Given the description of an element on the screen output the (x, y) to click on. 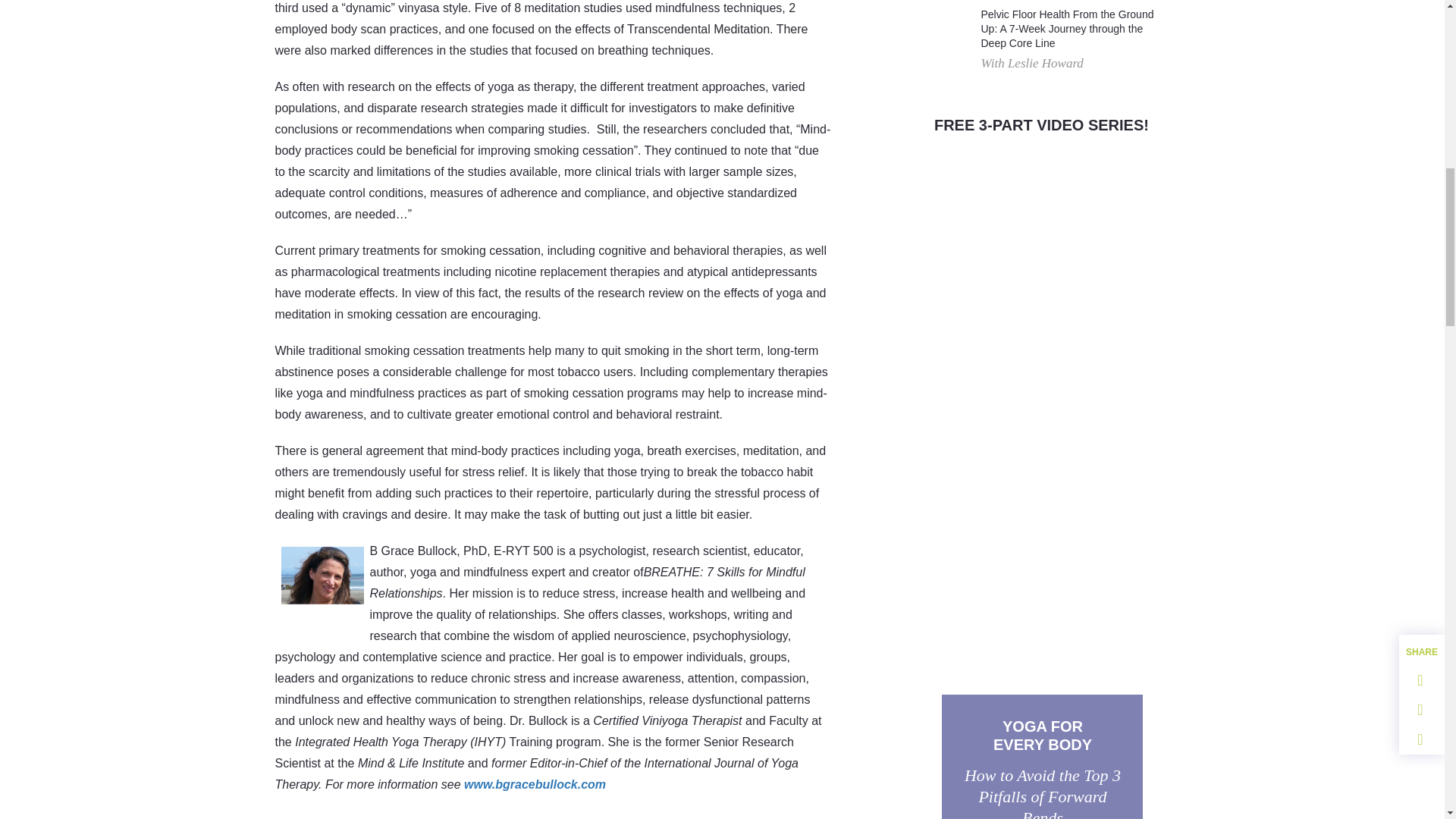
www.bgracebullock.com (534, 784)
